Given the description of an element on the screen output the (x, y) to click on. 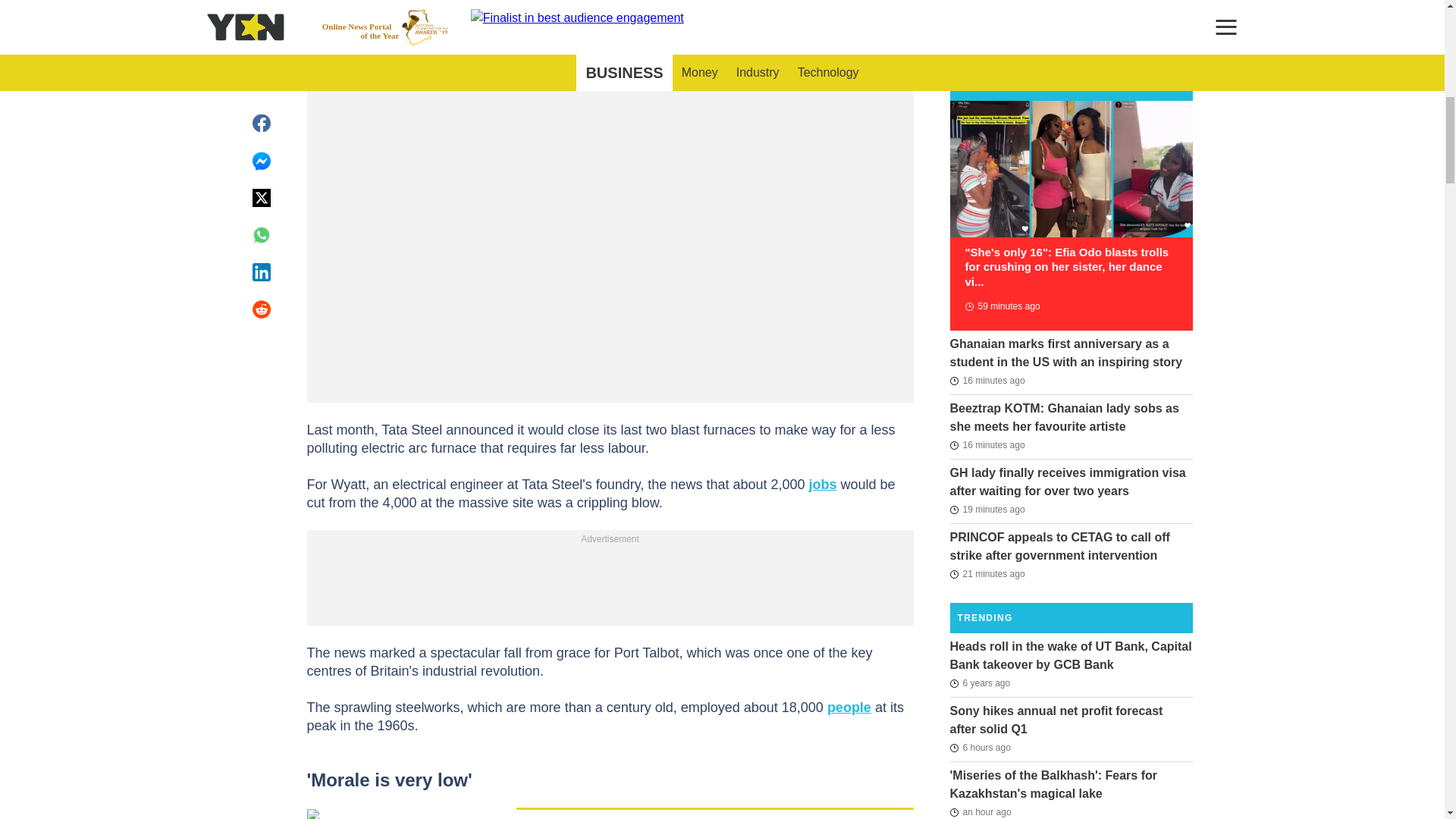
X Space (660, 2)
2024-08-07T13:08:32Z (987, 509)
2024-08-07T12:28:18Z (1001, 306)
2024-08-07T13:06:15Z (987, 574)
2024-08-07T13:11:39Z (987, 380)
2024-08-07T13:11:26Z (987, 444)
2017-08-16T14:56:16Z (979, 683)
